Given the description of an element on the screen output the (x, y) to click on. 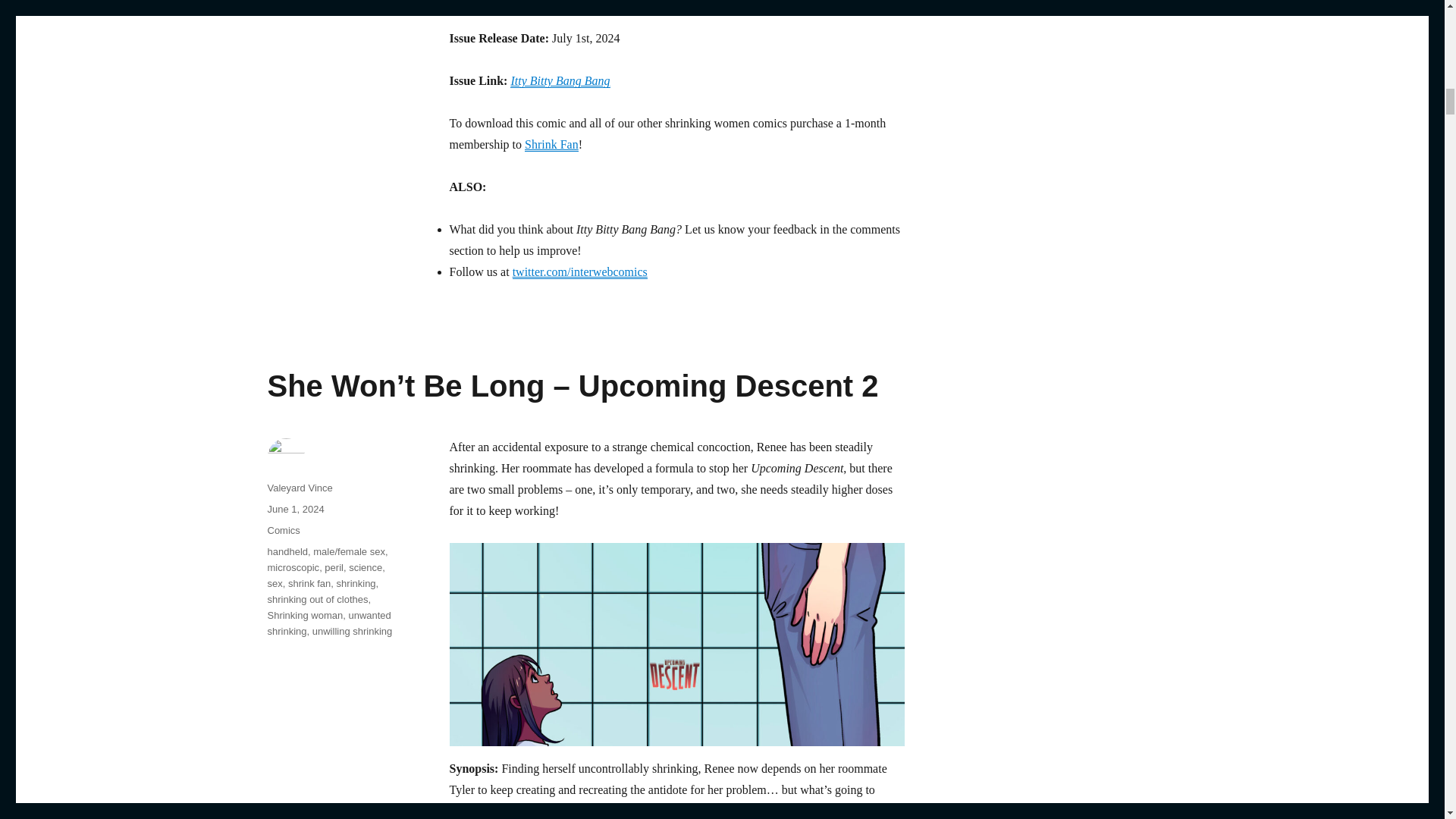
Shrink Fan (551, 144)
Itty Bitty Bang Bang (560, 80)
Valeyard Vince (298, 487)
